Given the description of an element on the screen output the (x, y) to click on. 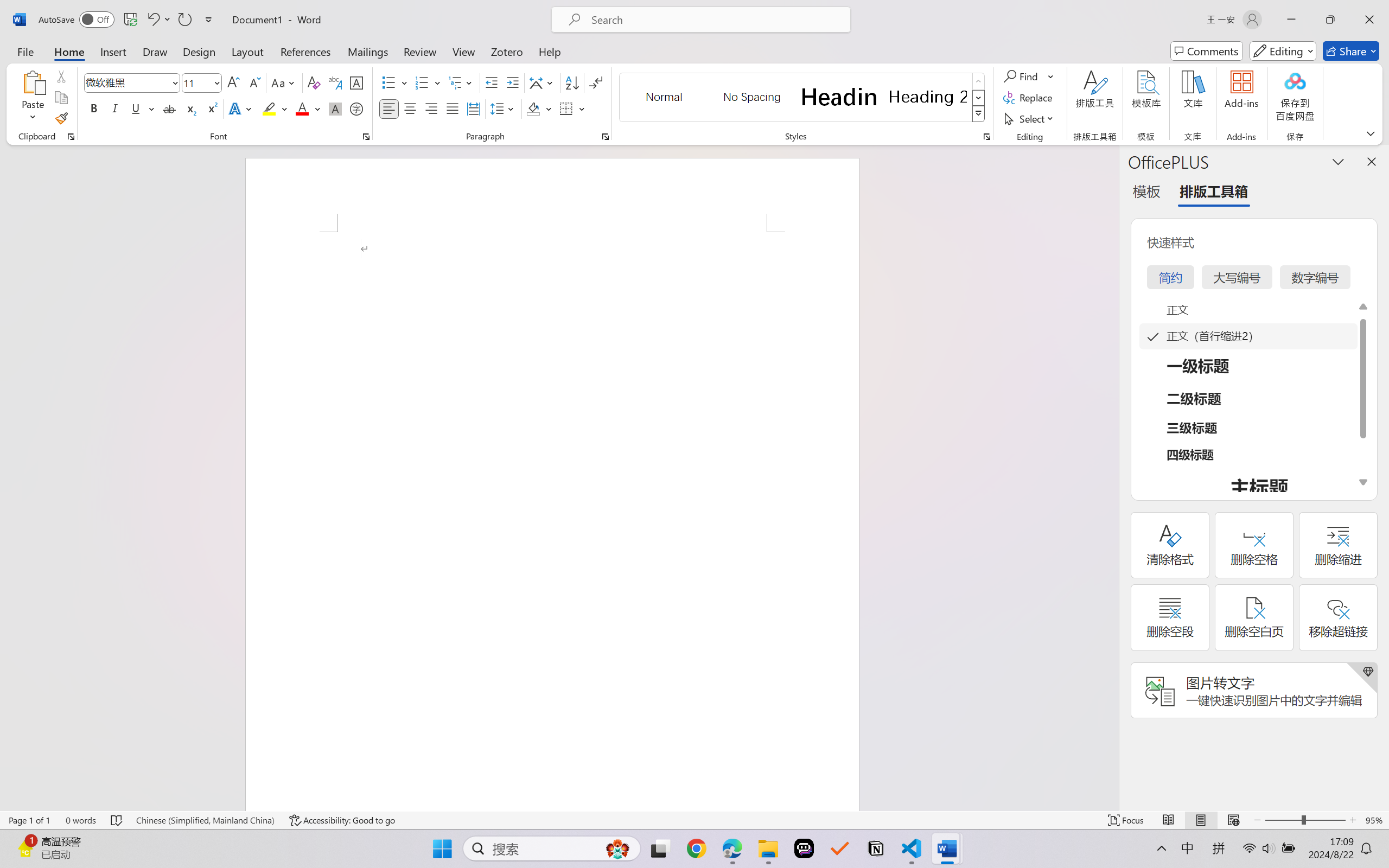
Undo <ApplyStyleToDoc>b__0 (152, 19)
